Given the description of an element on the screen output the (x, y) to click on. 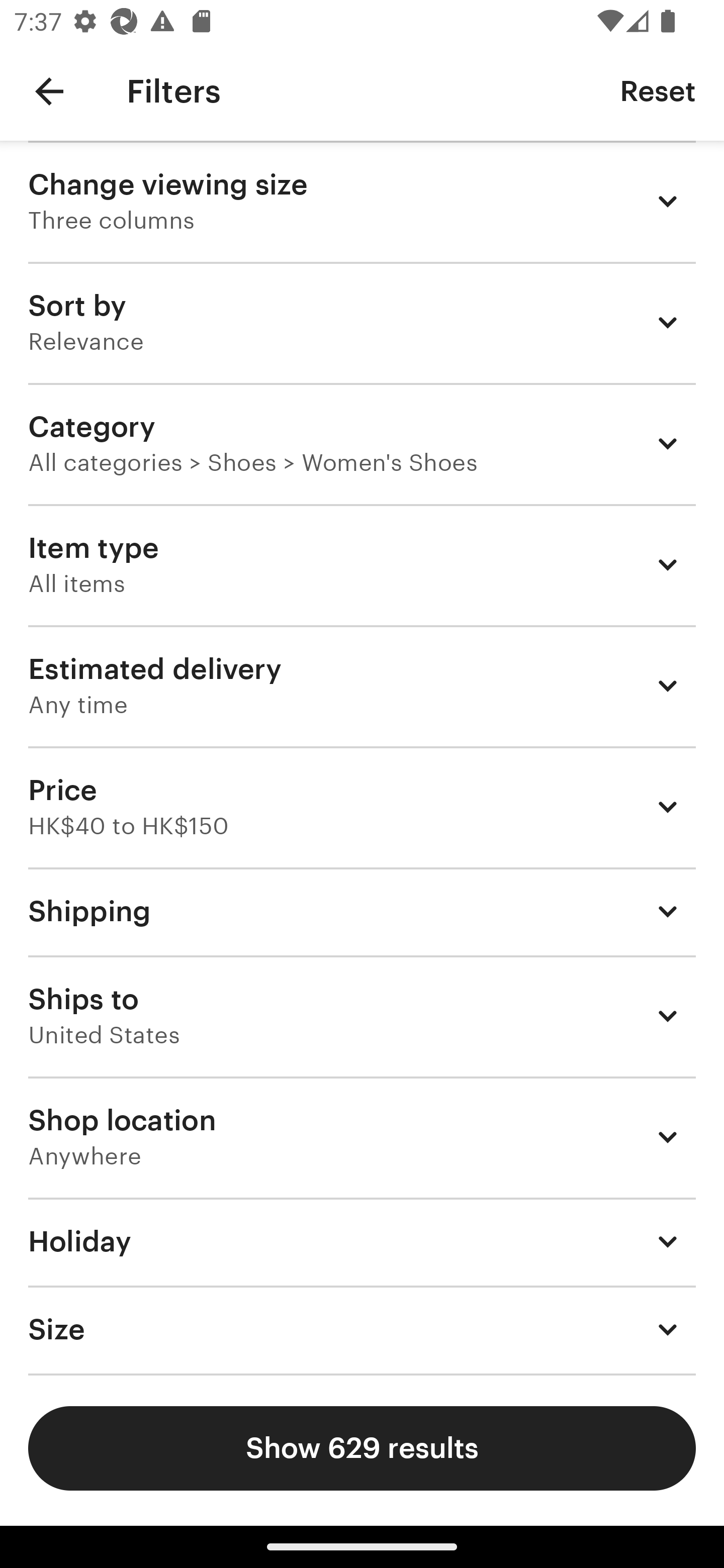
Navigate up (49, 91)
Reset (657, 90)
Change viewing size Three columns (362, 201)
Sort by Relevance (362, 321)
Category All categories > Shoes > Women's Shoes (362, 442)
Item type All items (362, 564)
Estimated delivery Any time (362, 685)
Price HK$40 to HK$150 (362, 806)
Shipping (362, 910)
Ships to United States (362, 1015)
Shop location Anywhere (362, 1137)
Holiday (362, 1241)
Size (362, 1329)
Show 629 results Show results (361, 1448)
